Given the description of an element on the screen output the (x, y) to click on. 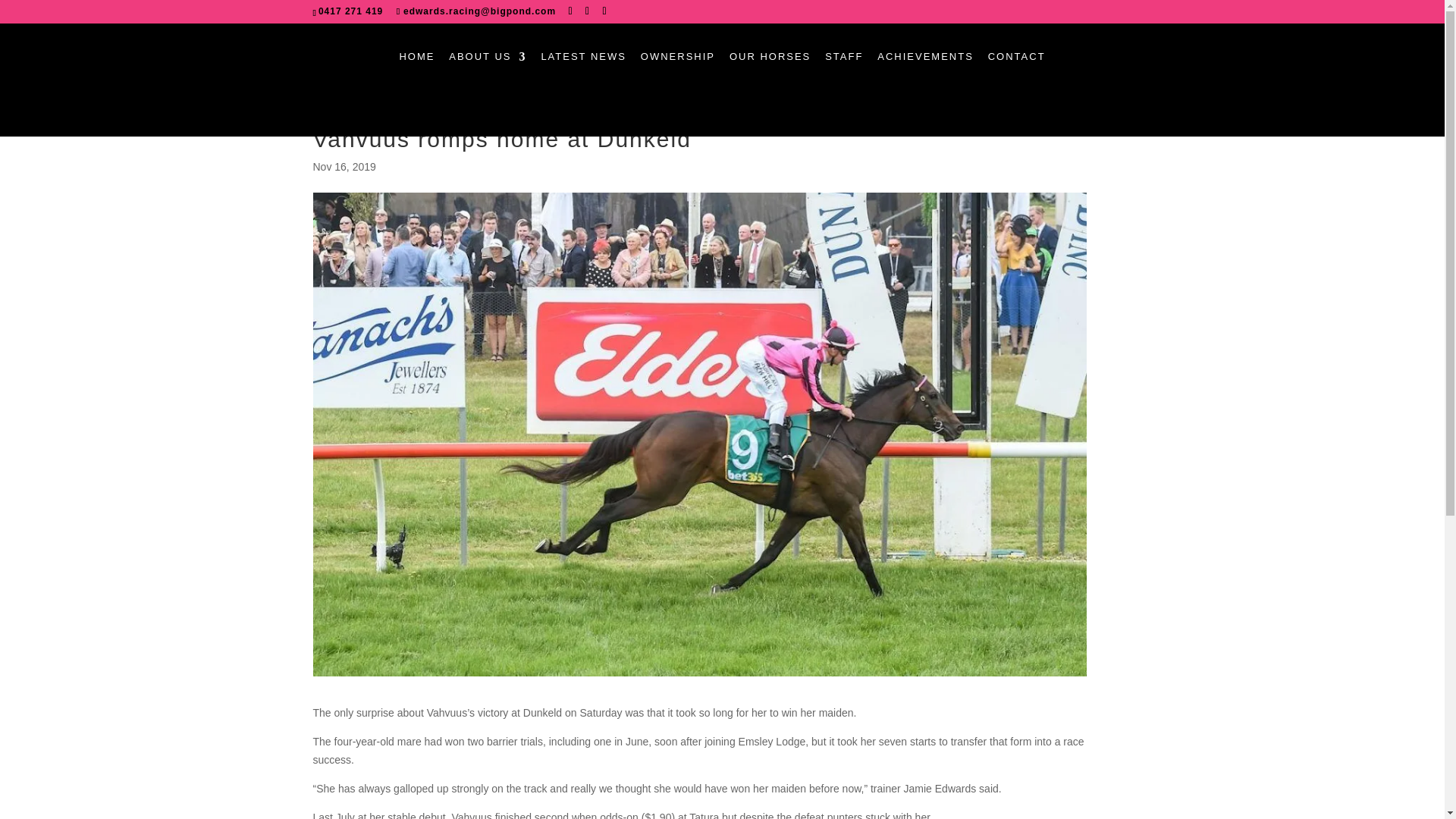
ACHIEVEMENTS (925, 70)
OUR HORSES (769, 70)
OWNERSHIP (677, 70)
STAFF (844, 70)
ABOUT US (486, 70)
HOME (415, 70)
LATEST NEWS (583, 70)
CONTACT (1016, 70)
